Given the description of an element on the screen output the (x, y) to click on. 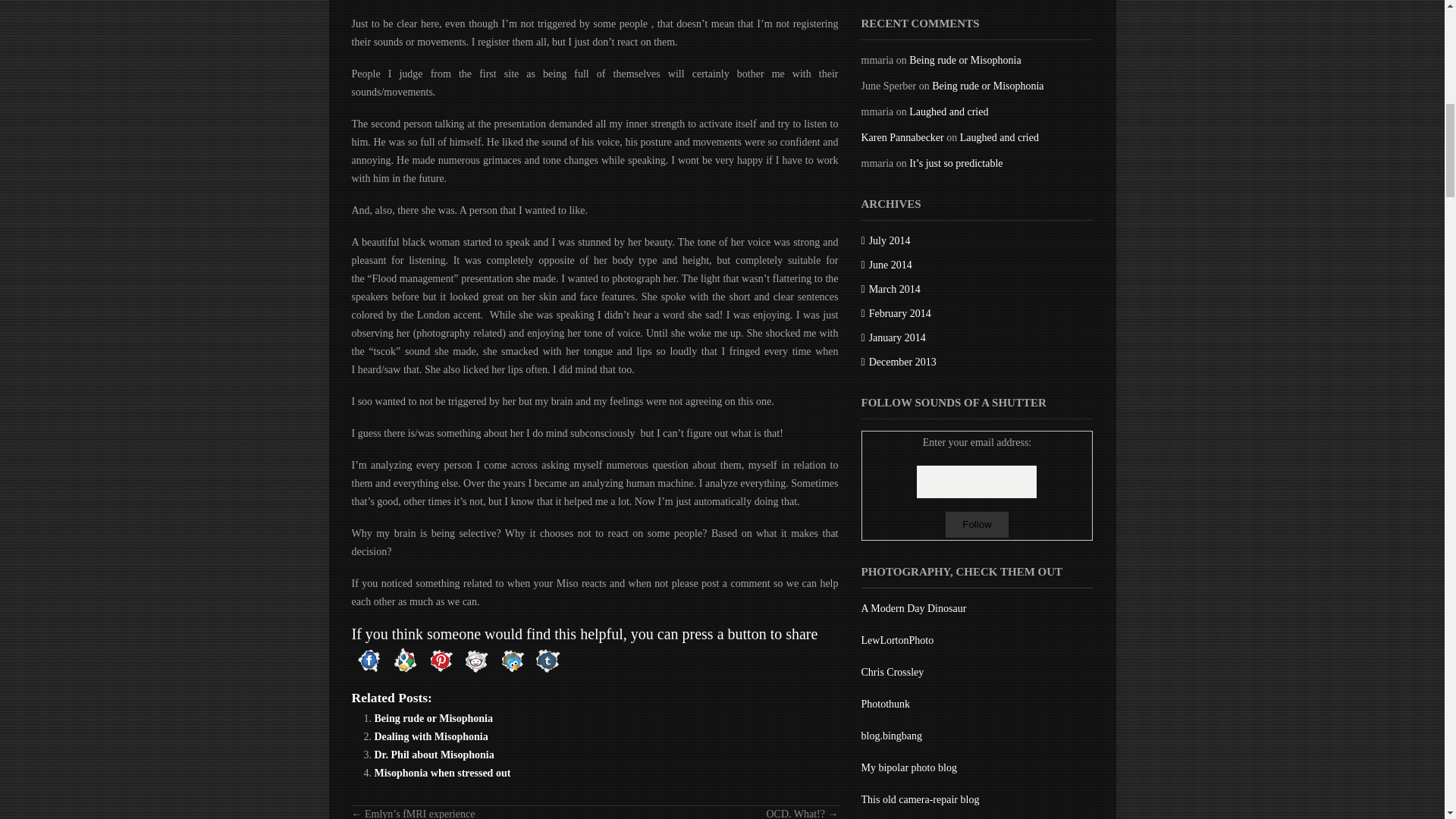
Dealing with Misophonia (430, 736)
Dealing with Misophonia (430, 736)
Dr. Phil about Misophonia (434, 754)
Follow (976, 524)
Misophonia when stressed out (442, 772)
Reddit (475, 660)
Being rude or Misophonia (433, 717)
Misophonia when stressed out (442, 772)
tumblr (546, 660)
Dr. Phil about Misophonia (434, 754)
Being rude or Misophonia (433, 717)
Twitter (512, 660)
Facebook (369, 660)
Pinterest (440, 660)
